Given the description of an element on the screen output the (x, y) to click on. 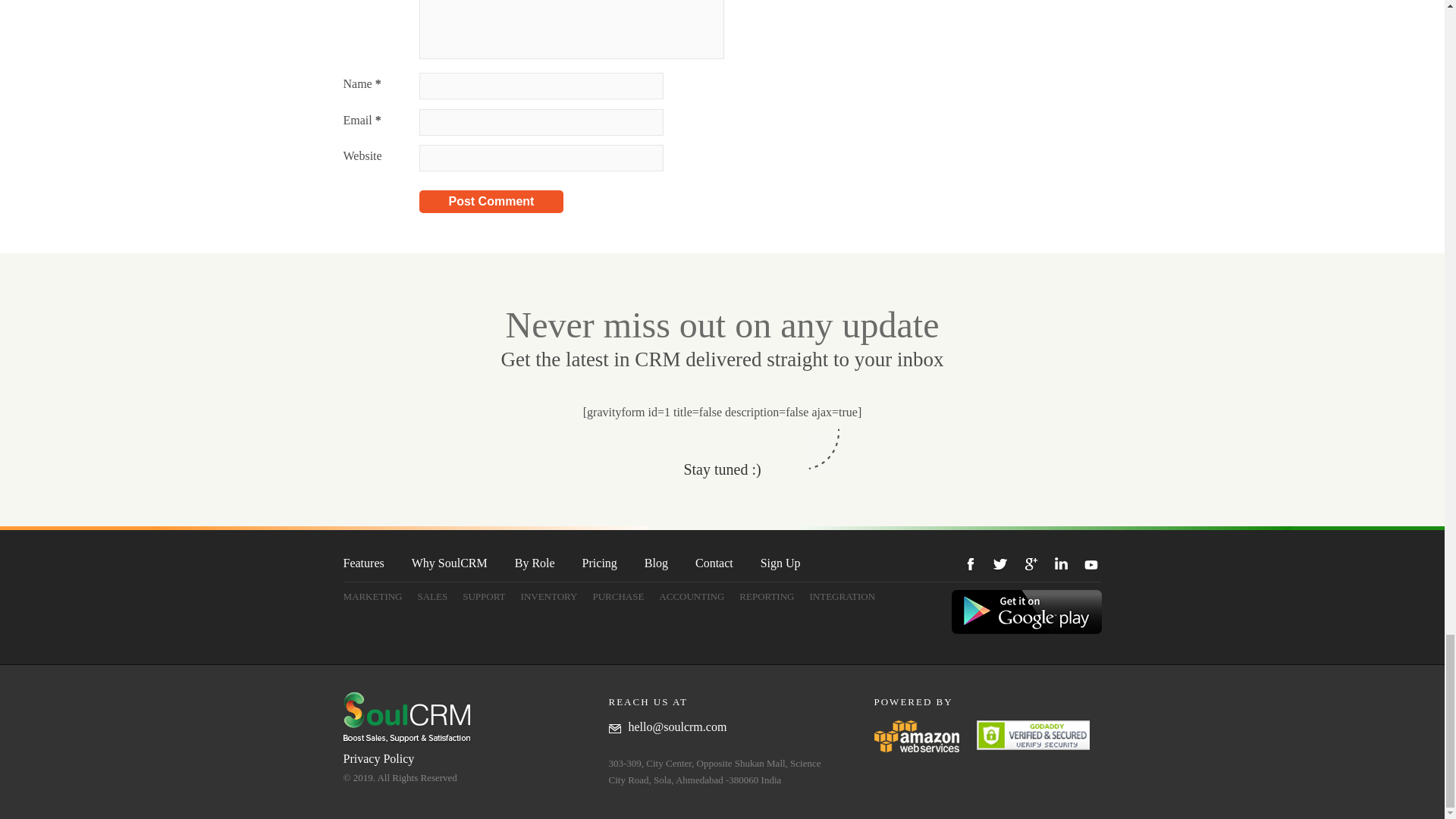
Post Comment (491, 201)
